Given the description of an element on the screen output the (x, y) to click on. 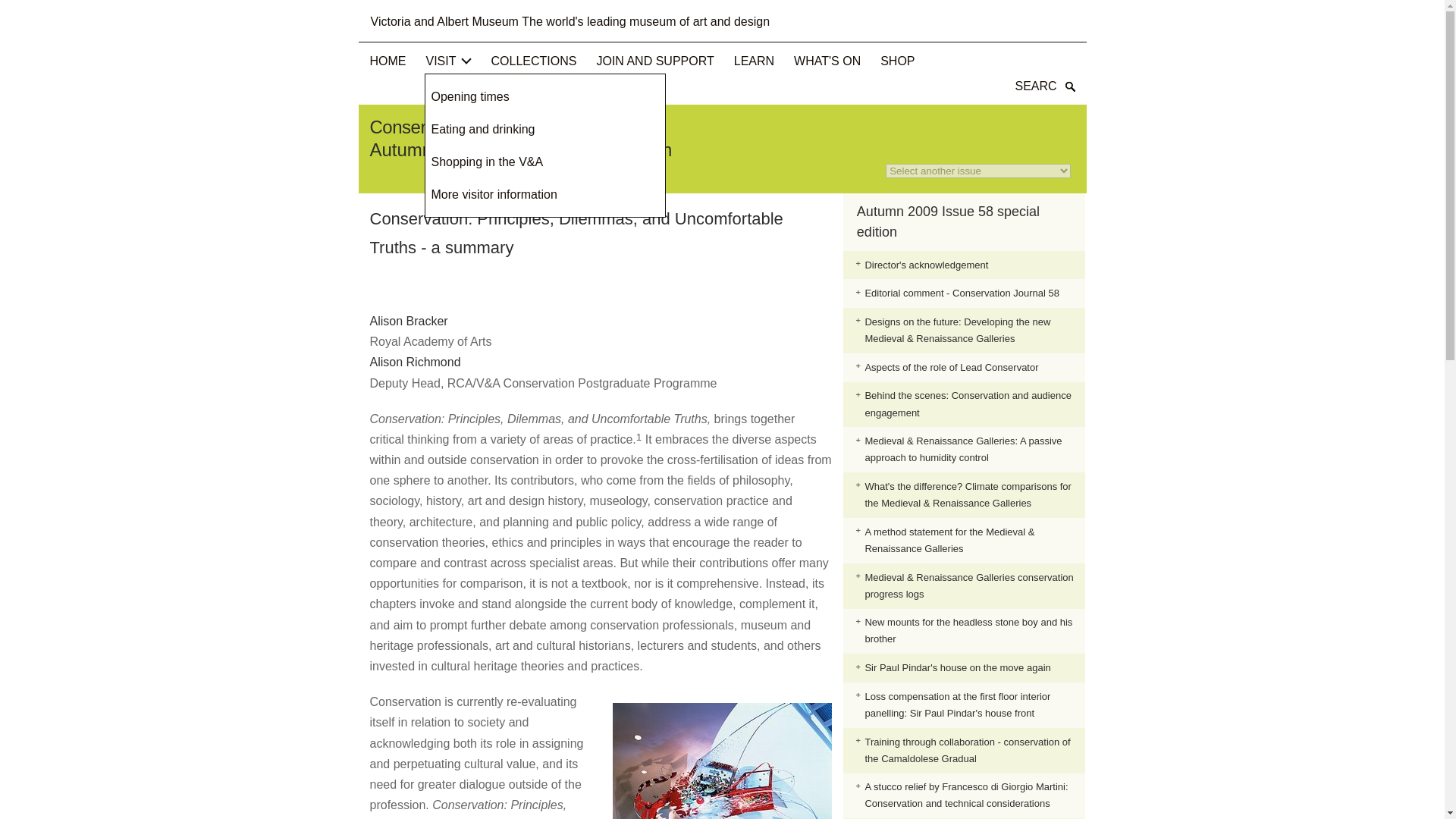
JOIN AND SUPPORT (654, 60)
Editorial comment - Conservation Journal 58 (961, 292)
Opening times (469, 96)
COLLECTIONS (534, 60)
More visitor information (493, 194)
Sir Paul Pindar's house on the move again (956, 667)
HOME (387, 60)
Aspects of the role of Lead Conservator (951, 367)
Director's acknowledgement (926, 265)
WHAT'S ON (826, 60)
Autumn 2009 Issue 58 special edition (948, 221)
VISIT (448, 60)
